Given the description of an element on the screen output the (x, y) to click on. 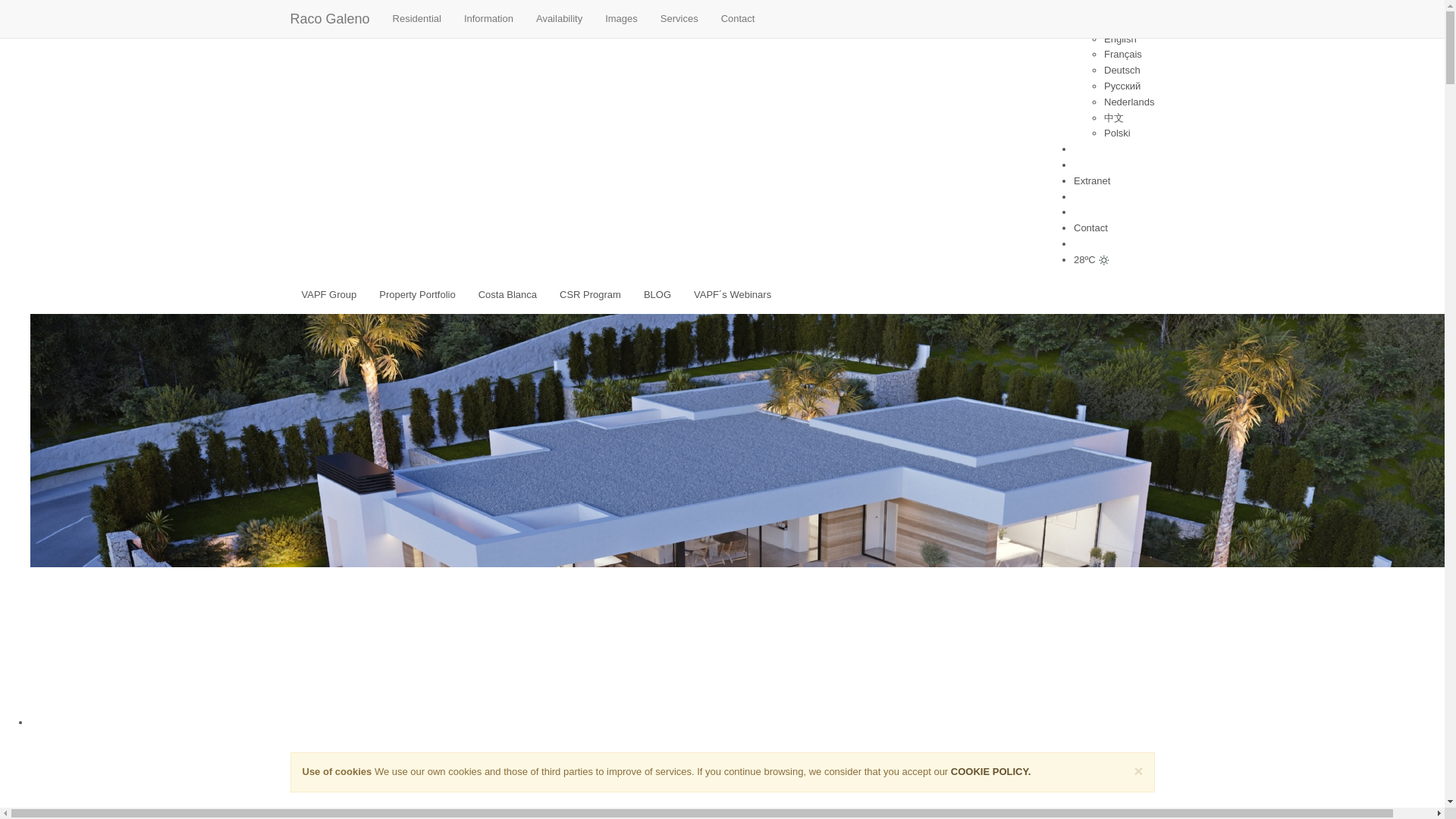
BLOG (656, 294)
VAPF Group (328, 294)
Residential (416, 18)
Availability (559, 18)
CSR Program (589, 294)
English (1120, 39)
Contact (738, 18)
Property Portfolio (416, 294)
Deutsch (1121, 70)
Extranet (1091, 180)
Languages (1098, 7)
Raco Galeno (330, 18)
Costa Blanca (507, 294)
Services (679, 18)
Nederlands (1128, 101)
